Given the description of an element on the screen output the (x, y) to click on. 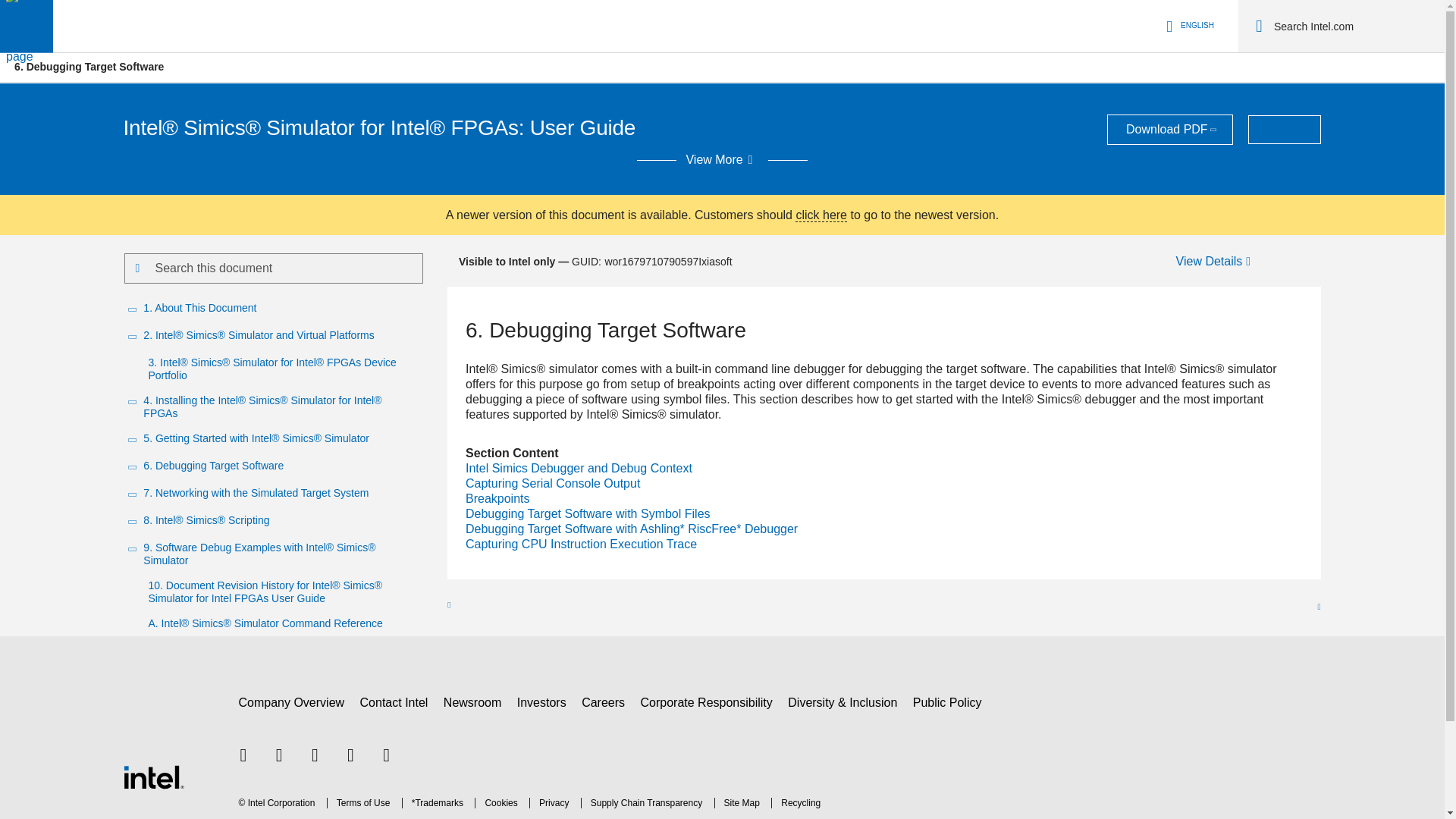
Intel Footer Logo (152, 741)
Intel Footer Logo (152, 775)
Search (1259, 26)
ENGLISH (1187, 26)
Language Selector (1187, 26)
